Given the description of an element on the screen output the (x, y) to click on. 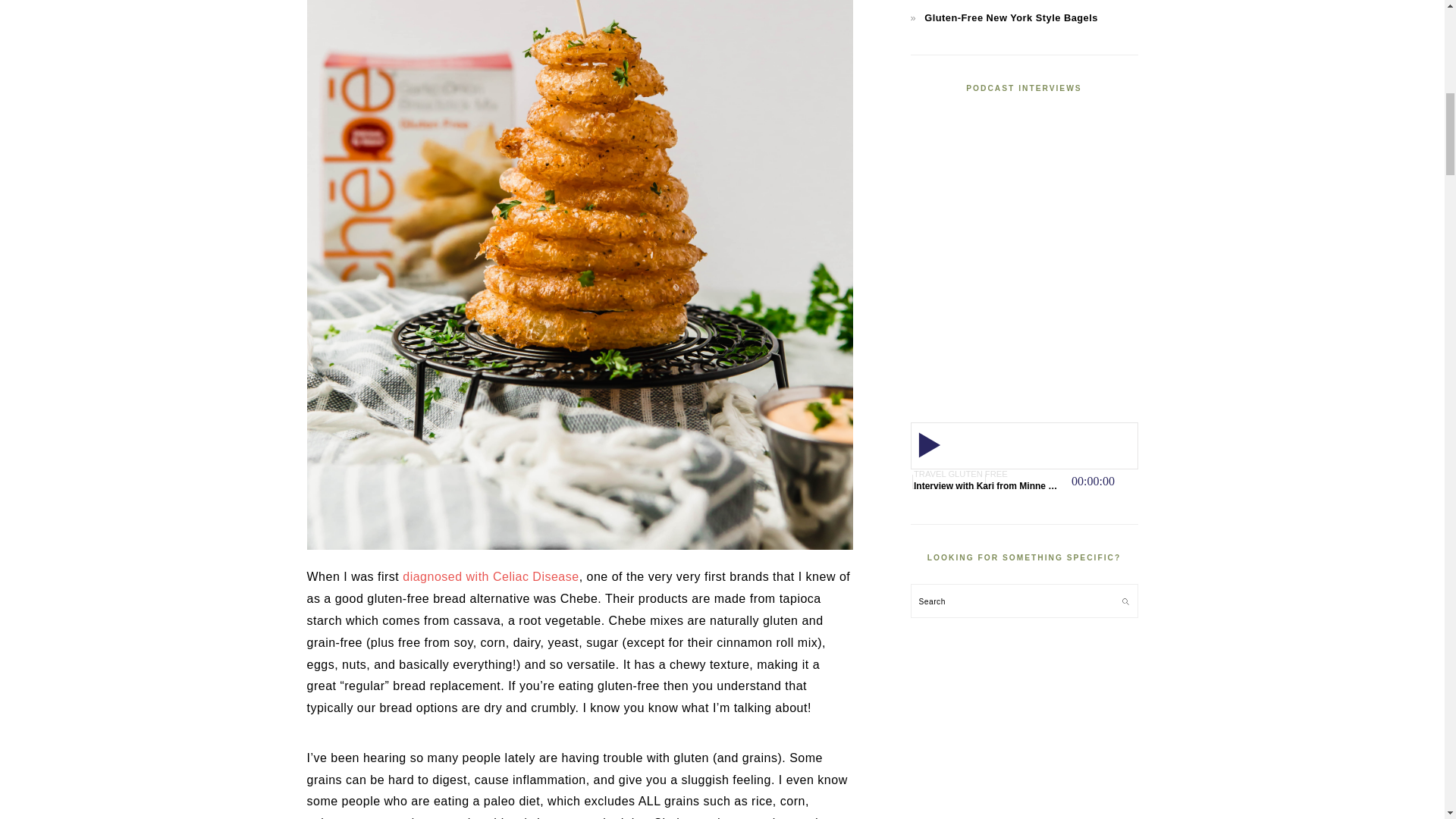
diagnosed with Celiac Disease (490, 576)
